Given the description of an element on the screen output the (x, y) to click on. 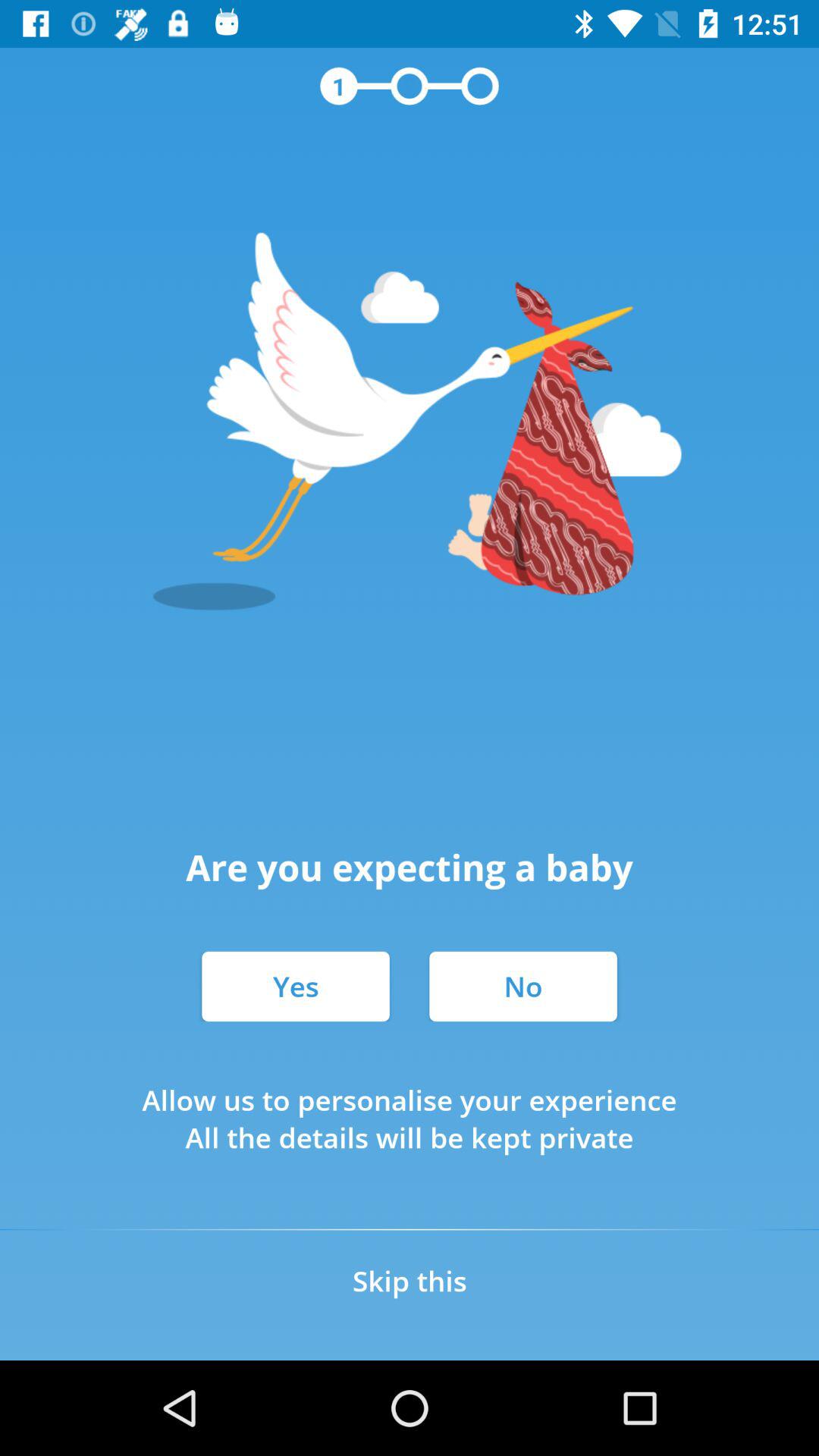
swipe until the yes item (295, 986)
